Given the description of an element on the screen output the (x, y) to click on. 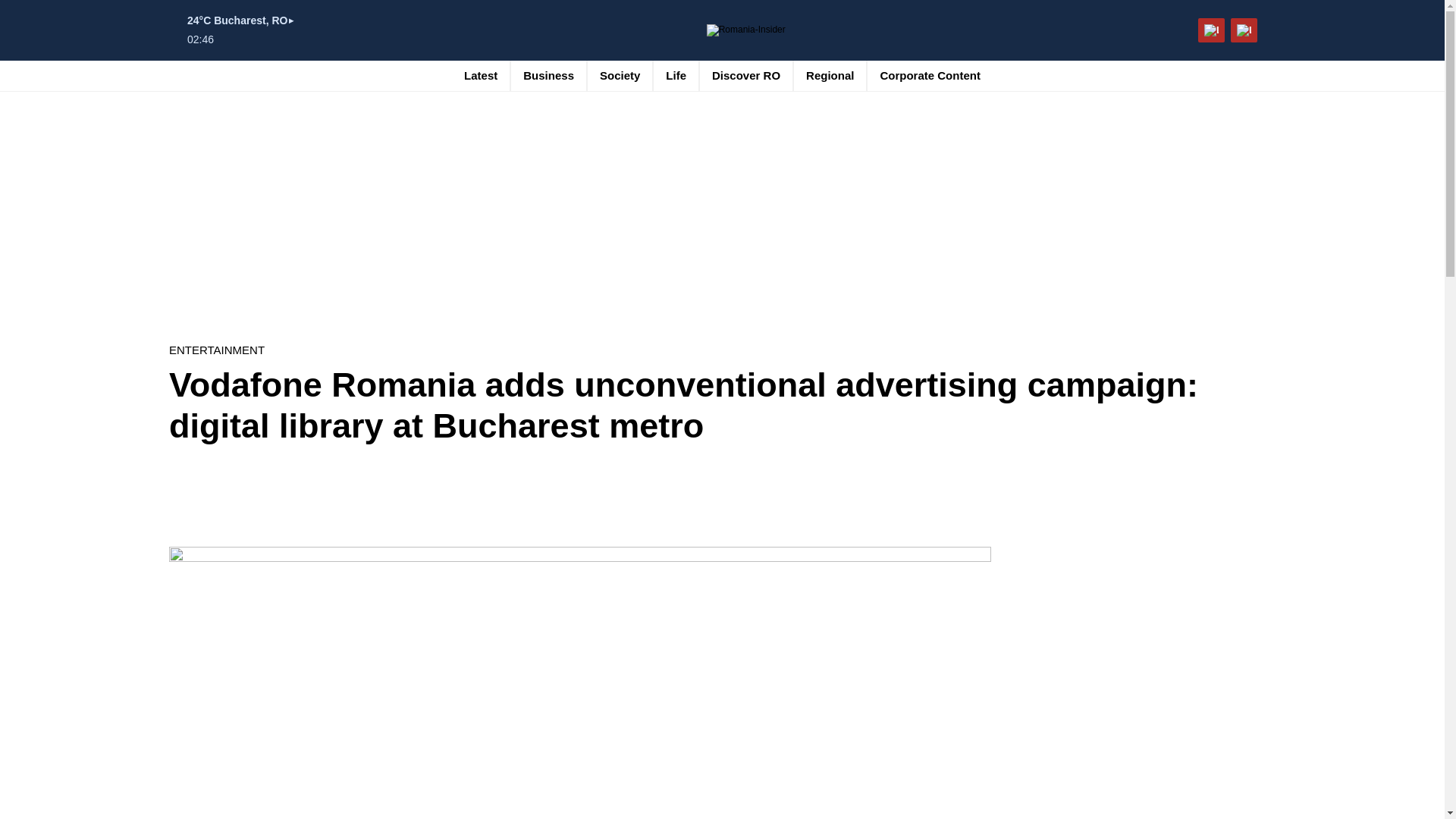
Society (619, 74)
Business (547, 74)
Latest (480, 74)
